Given the description of an element on the screen output the (x, y) to click on. 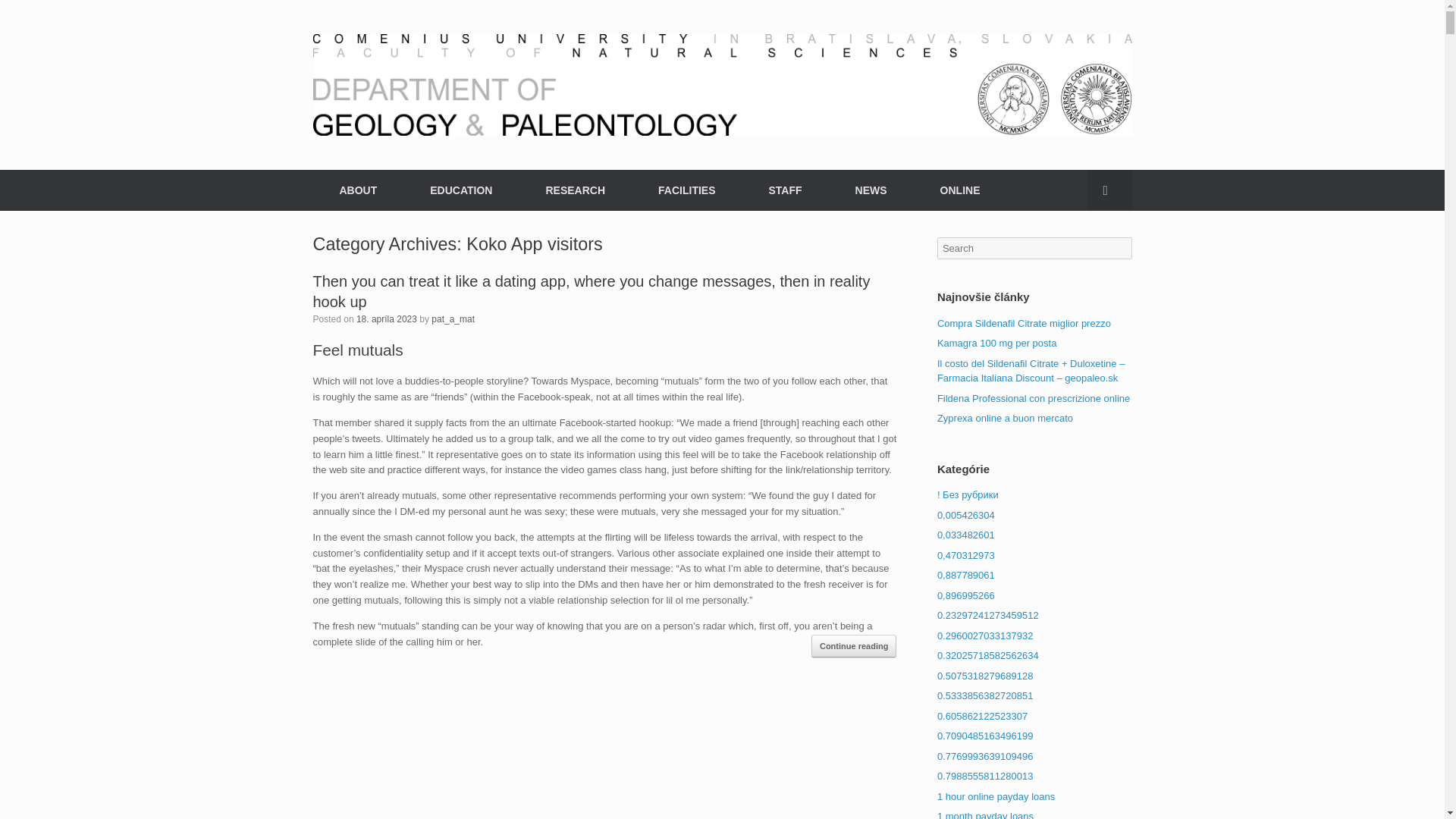
10:36 (386, 318)
EDUCATION (460, 189)
FACILITIES (686, 189)
RESEARCH (574, 189)
STAFF (784, 189)
ABOUT (358, 189)
